Given the description of an element on the screen output the (x, y) to click on. 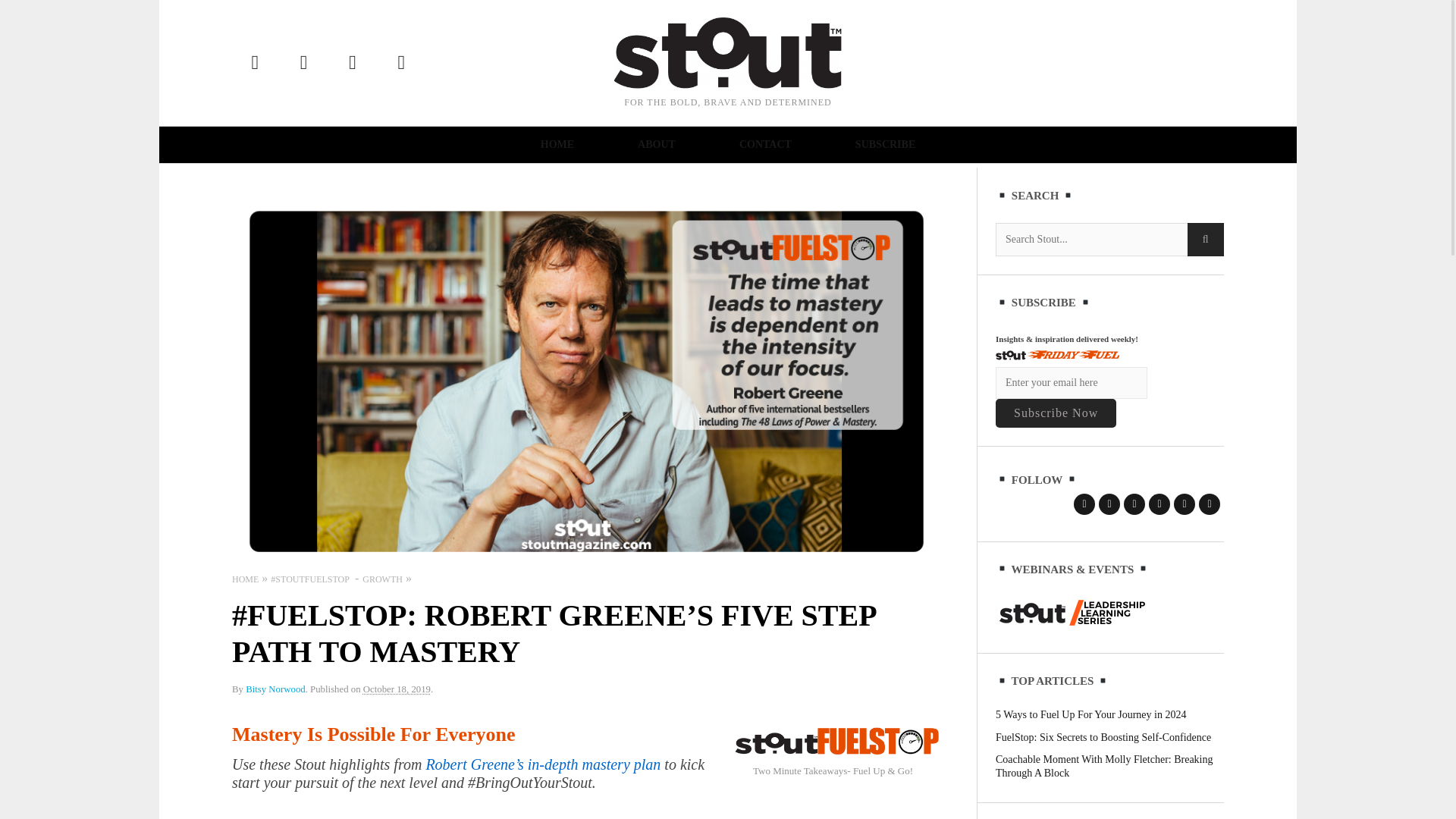
ABOUT (656, 144)
SUBSCRIBE (885, 144)
Subscribe Now (1055, 412)
GROWTH (382, 579)
HOME (557, 144)
CONTACT (764, 144)
Posts by Bitsy Norwood (275, 688)
Bitsy Norwood (275, 688)
HOME (245, 579)
Subscribe Now (1055, 412)
Stout Magazine (727, 52)
